Given the description of an element on the screen output the (x, y) to click on. 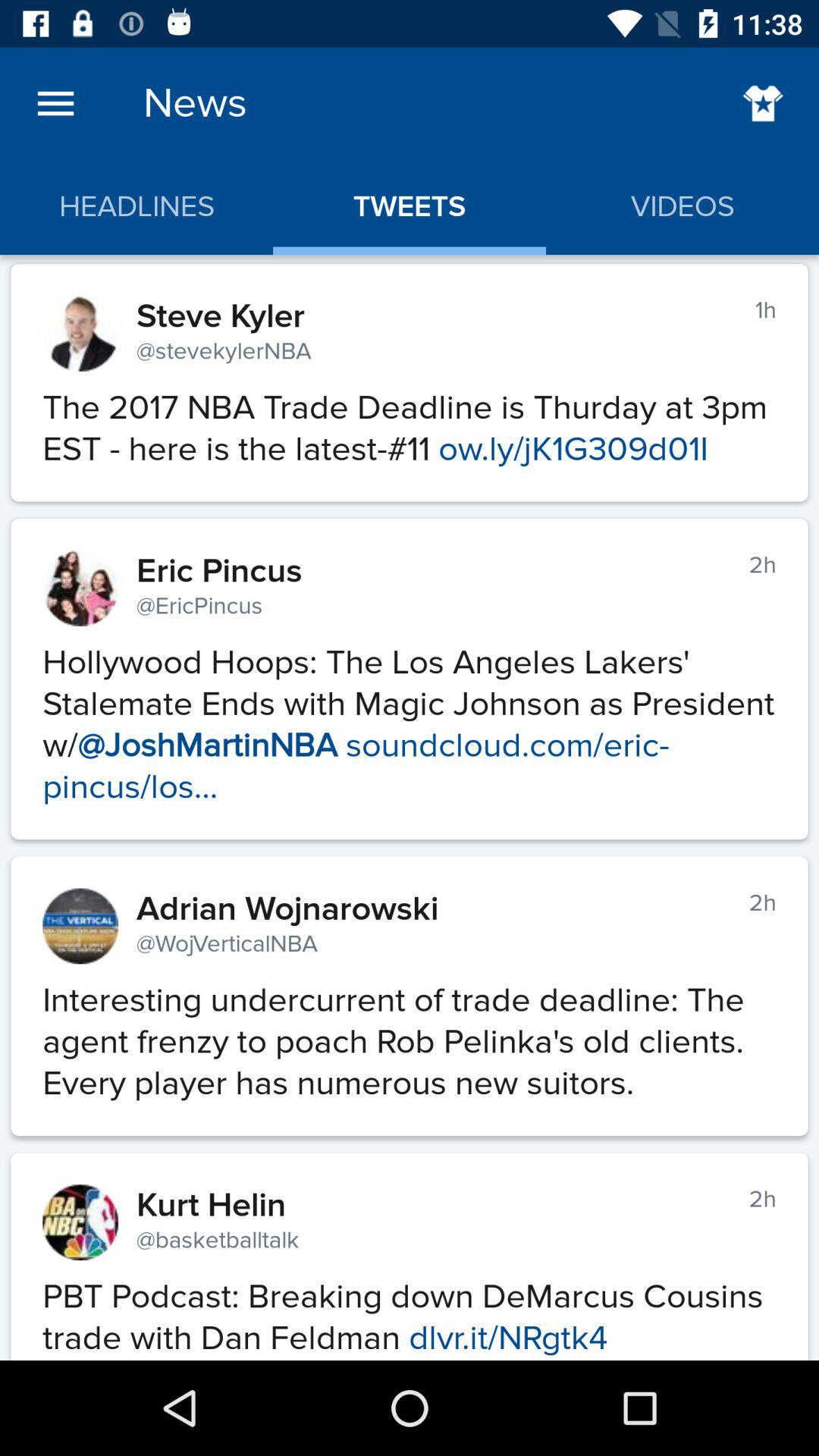
click the item above steve kyler icon (409, 206)
